Given the description of an element on the screen output the (x, y) to click on. 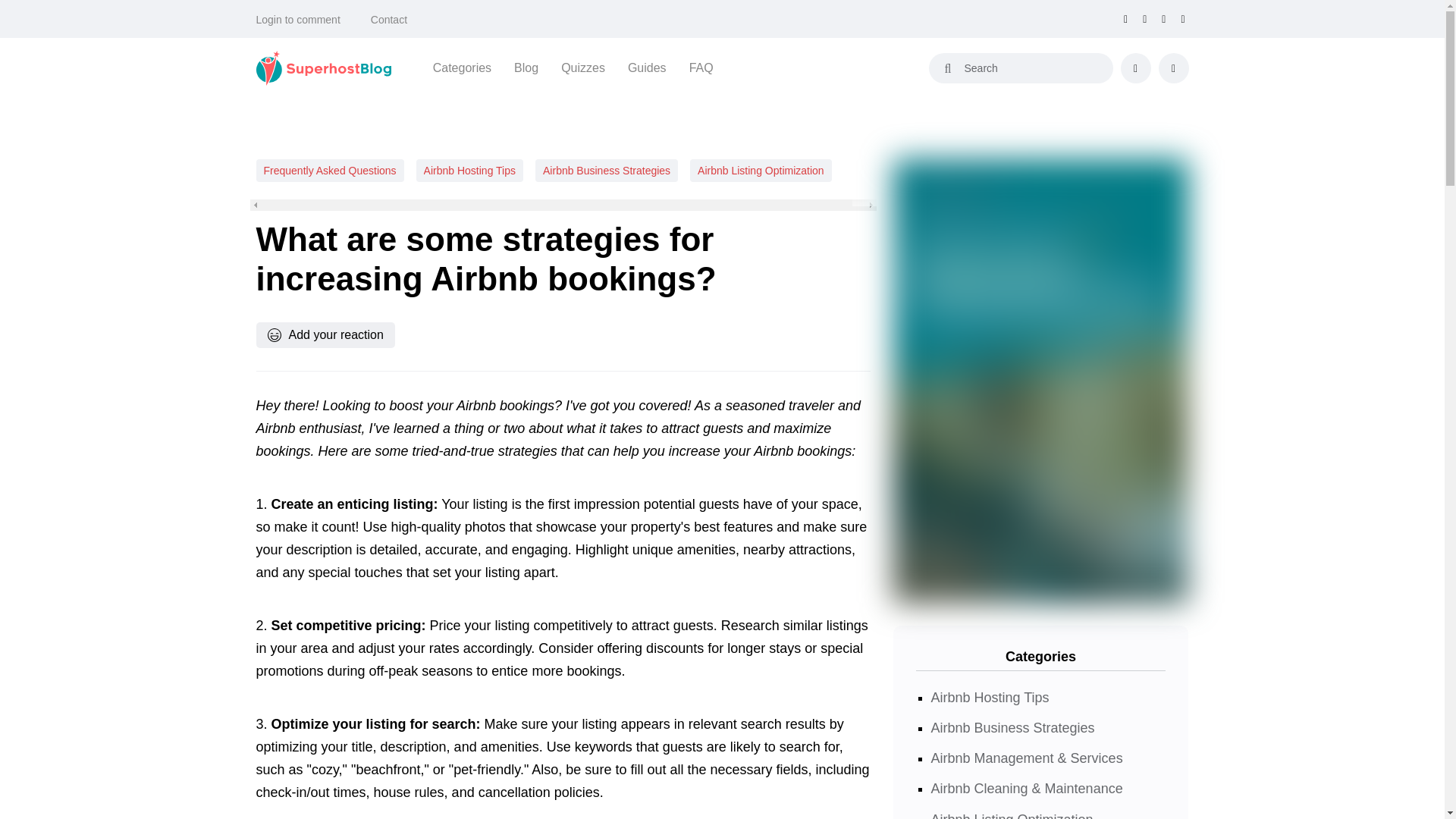
Contact (389, 19)
Login to comment (298, 19)
Categories (462, 67)
